Given the description of an element on the screen output the (x, y) to click on. 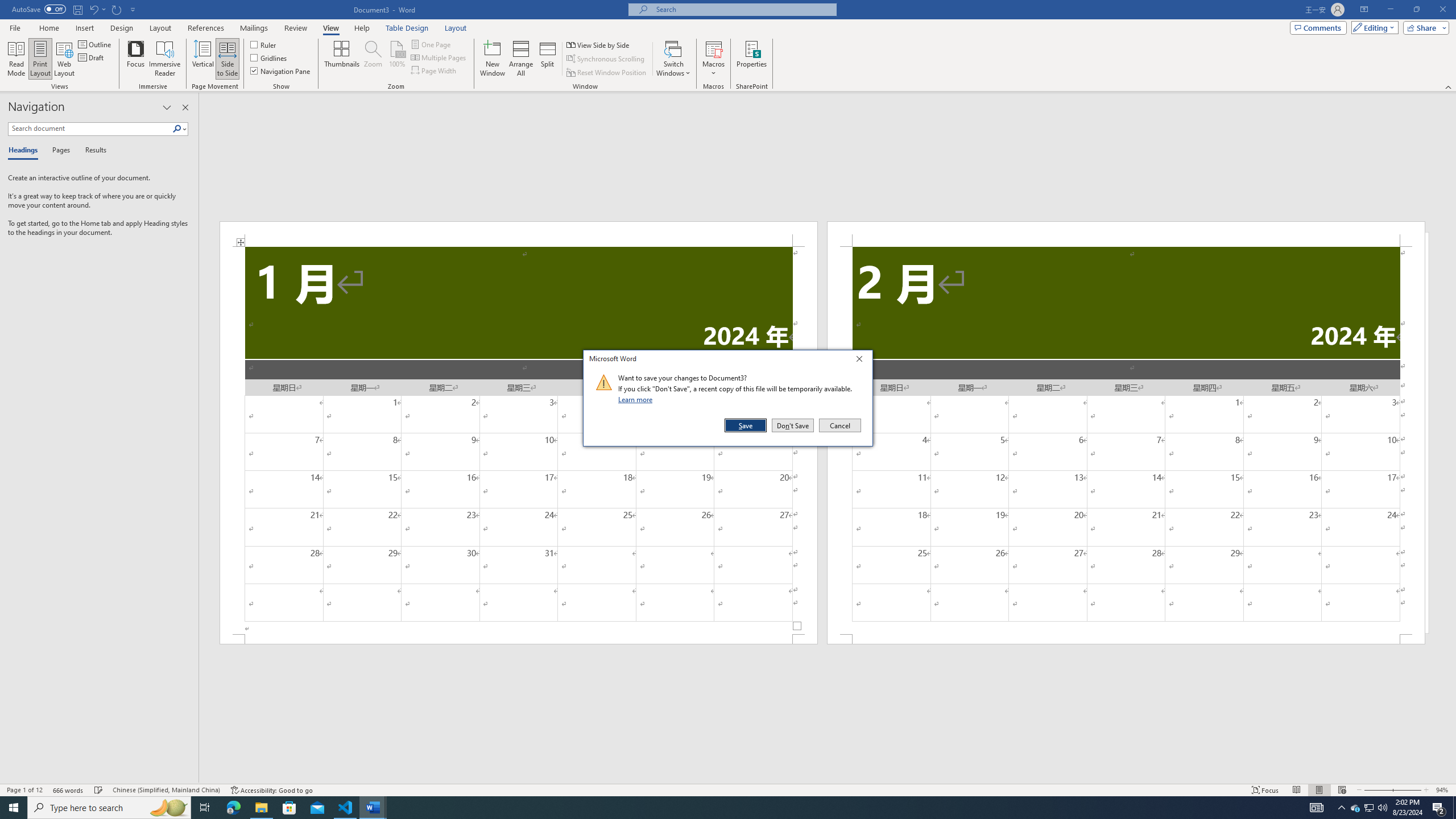
Page Number Page 1 of 12 (24, 790)
Outline (95, 44)
100% (396, 58)
Cancel (839, 425)
Split (547, 58)
